Given the description of an element on the screen output the (x, y) to click on. 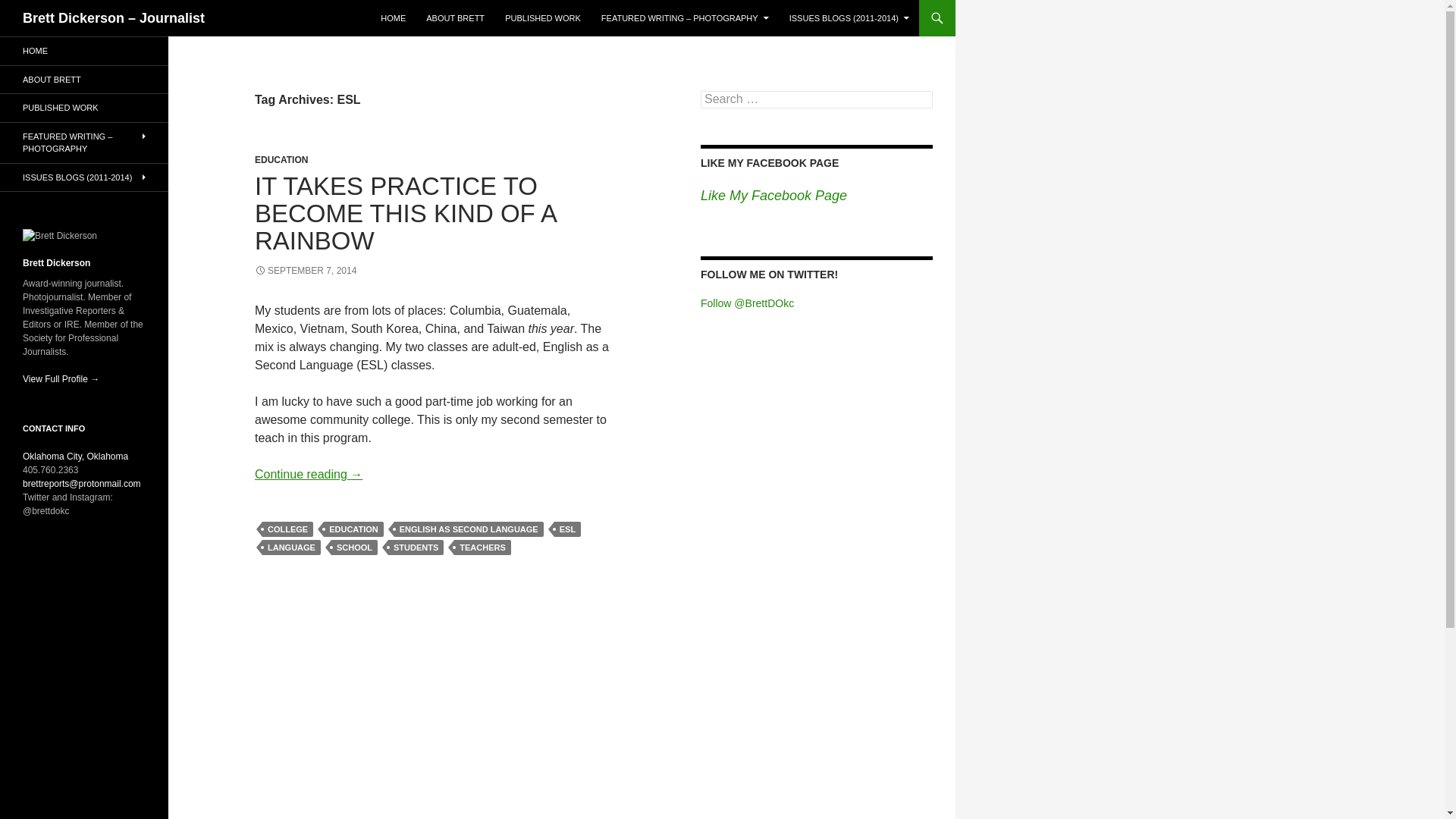
PUBLISHED WORK (542, 18)
Search (30, 8)
ABOUT BRETT (84, 79)
COLLEGE (287, 529)
ABOUT BRETT (454, 18)
LANGUAGE (291, 547)
EDUCATION (280, 159)
TEACHERS (482, 547)
HOME (84, 50)
SEPTEMBER 7, 2014 (305, 270)
